Given the description of an element on the screen output the (x, y) to click on. 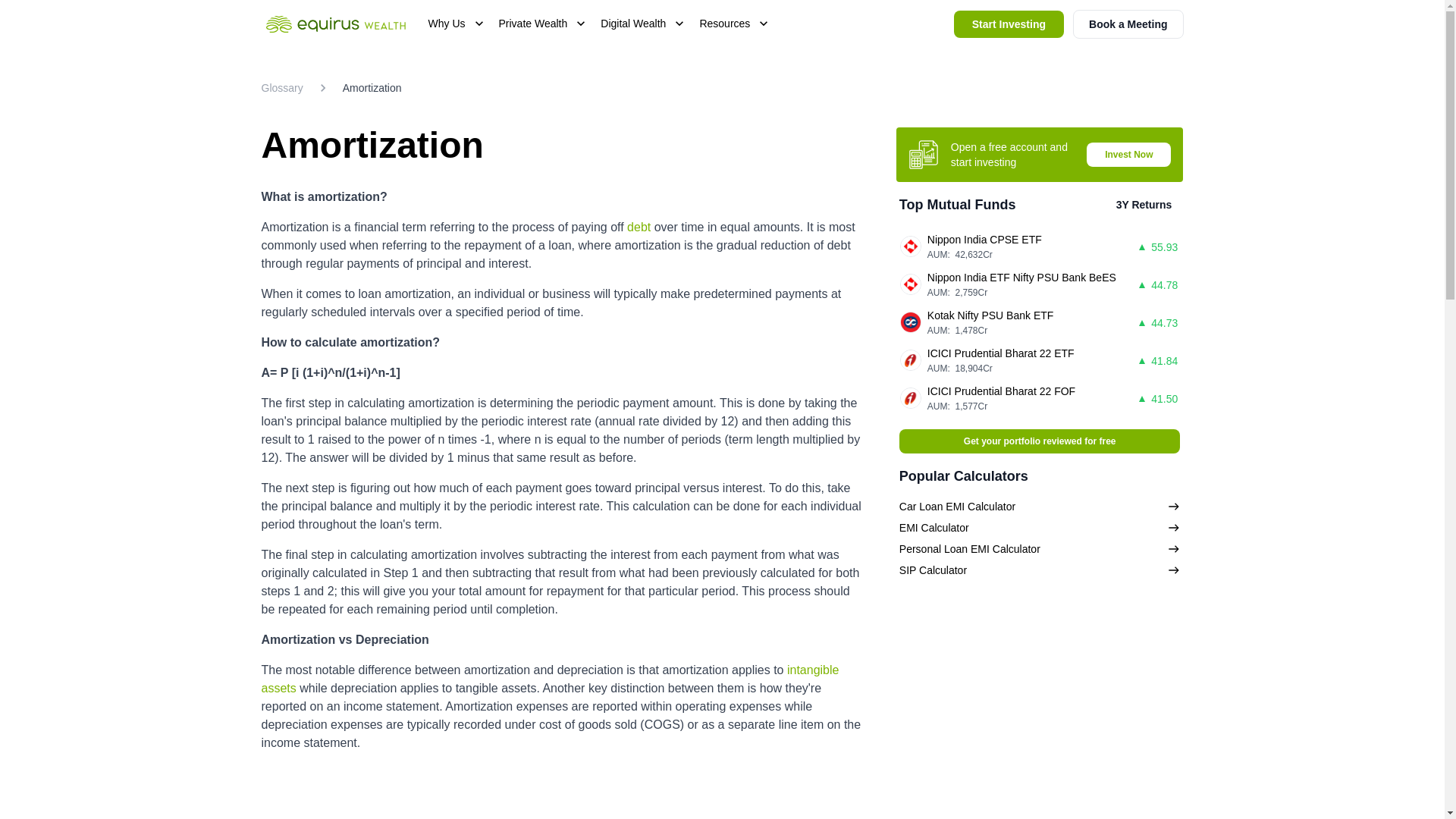
Invest Now (1129, 154)
Private Wealth (544, 24)
debt (638, 226)
SIP Calculator (1039, 570)
Nippon India CPSE ETF (984, 239)
Why Us (457, 24)
Start Investing (1008, 23)
ICICI Prudential Bharat 22 FOF (1001, 391)
Glossary (281, 87)
Resources (734, 24)
Car Loan EMI Calculator (1039, 506)
ICICI Prudential Bharat 22 ETF (1000, 353)
Digital Wealth (643, 24)
Kotak Nifty PSU Bank ETF (990, 314)
intangible assets (549, 678)
